Given the description of an element on the screen output the (x, y) to click on. 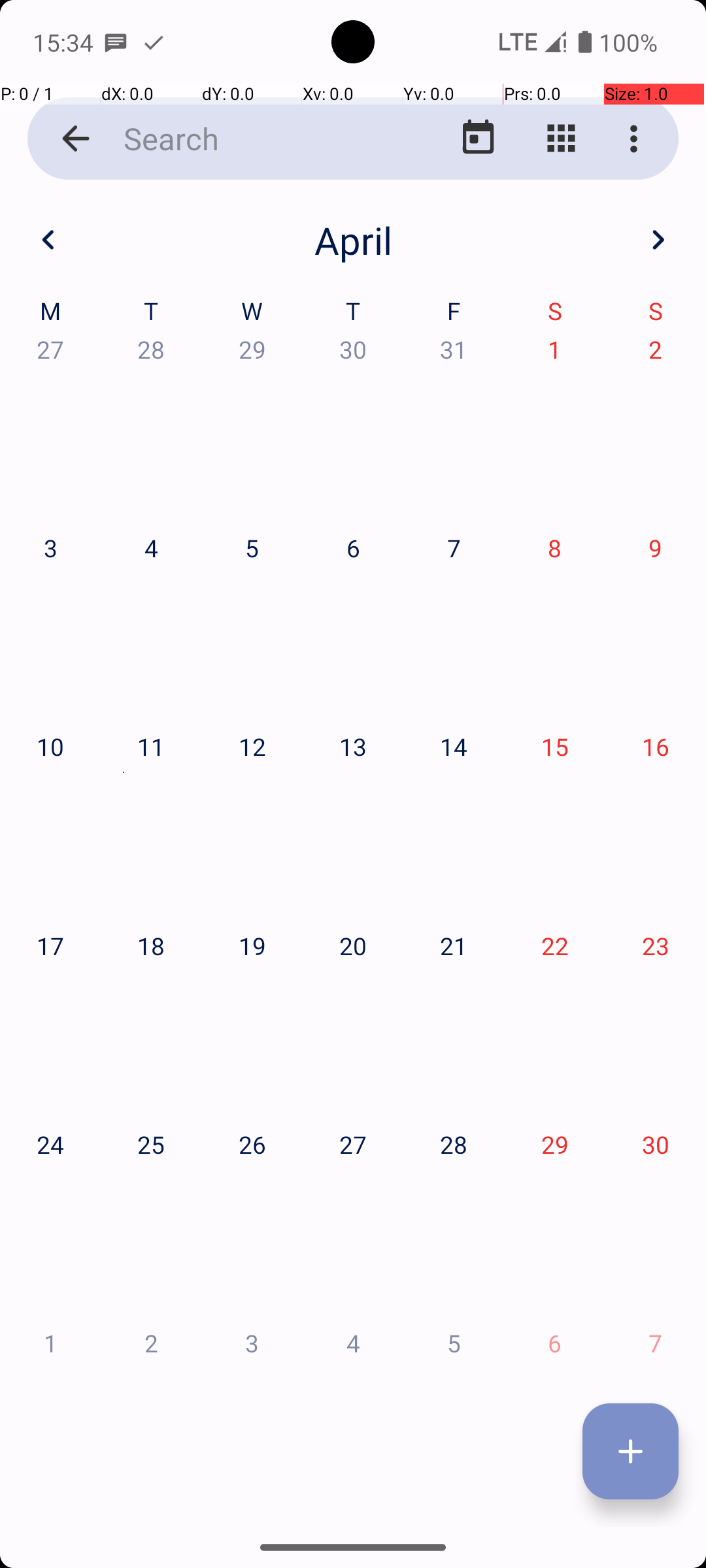
April Element type: android.widget.TextView (352, 239)
